Given the description of an element on the screen output the (x, y) to click on. 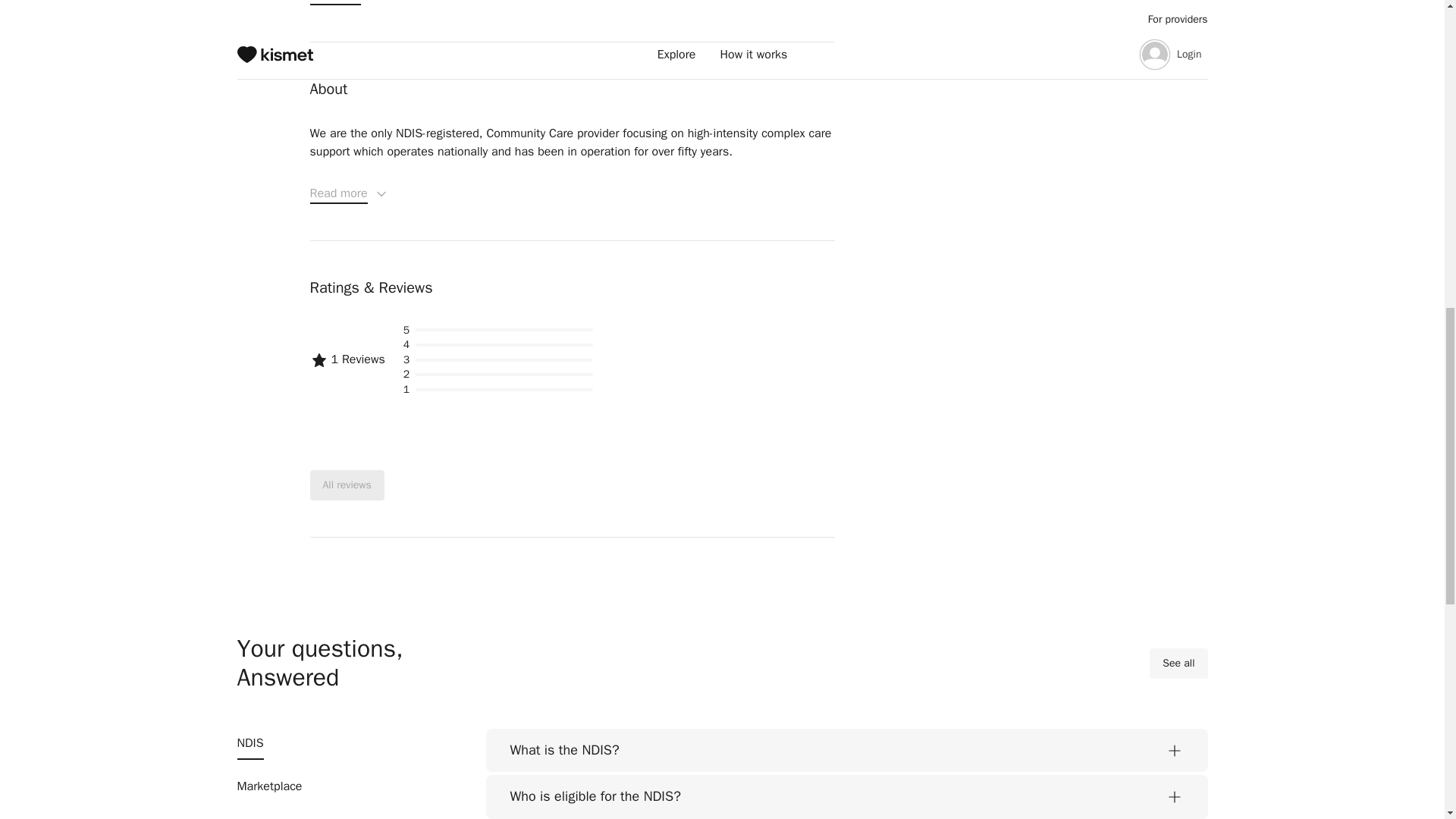
Read more (348, 194)
Wallet (252, 816)
What is the NDIS? (845, 750)
Who is eligible for the NDIS? (845, 796)
Marketplace (268, 787)
All reviews (346, 485)
See all (1178, 663)
